Given the description of an element on the screen output the (x, y) to click on. 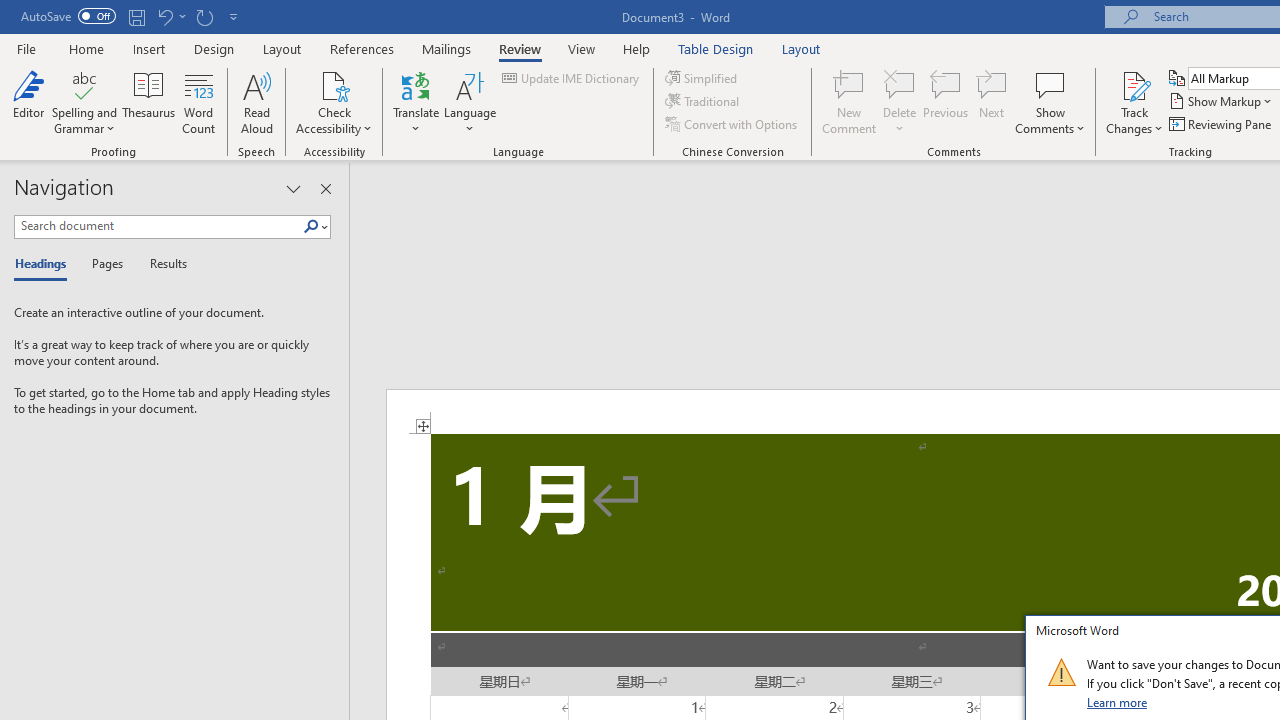
Editor (28, 102)
Read Aloud (256, 102)
Table Design (715, 48)
Check Accessibility (334, 102)
Pages (105, 264)
Repeat Doc Close (204, 15)
Search document (157, 226)
